Given the description of an element on the screen output the (x, y) to click on. 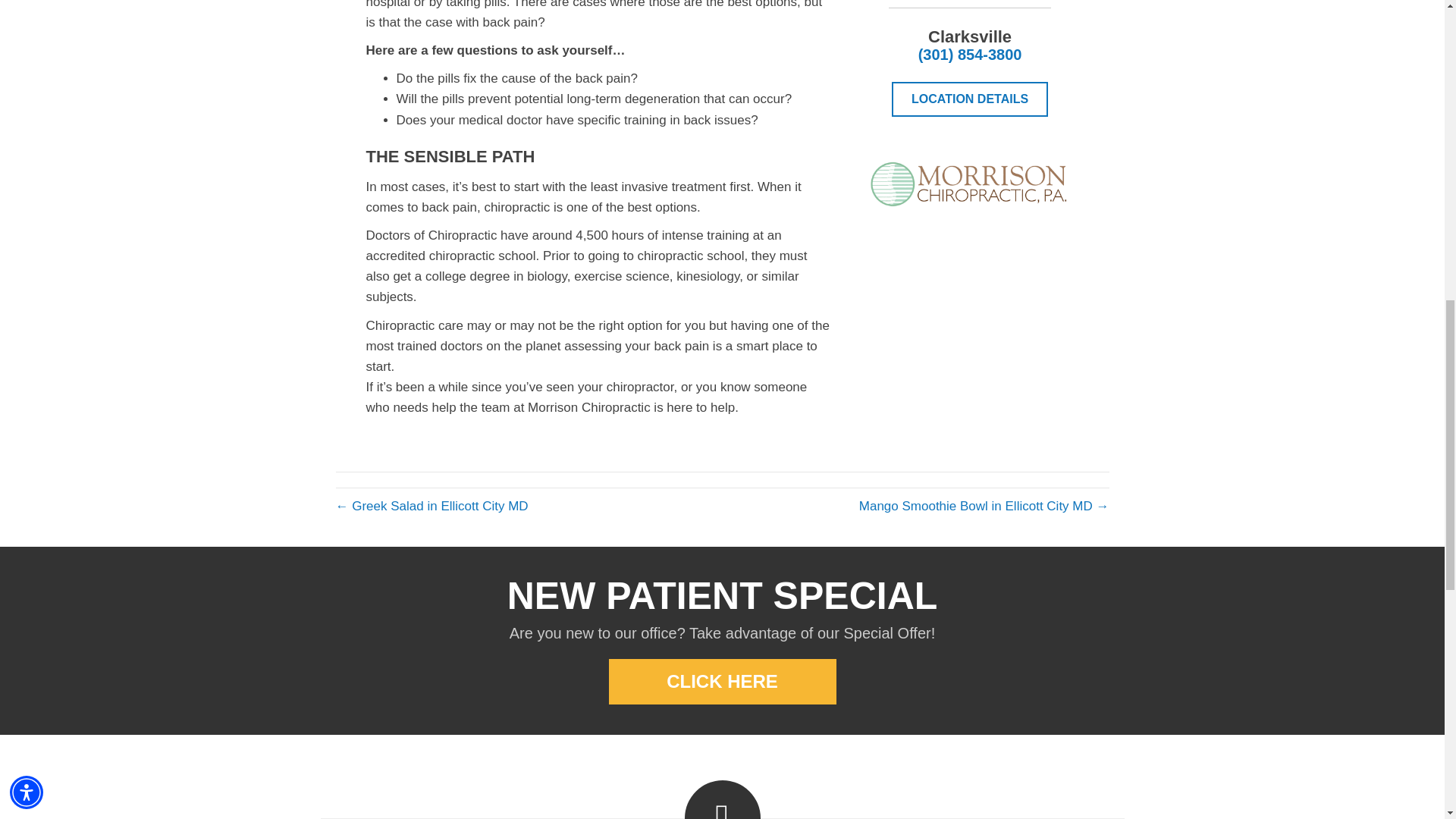
Chiropractic Morrison Chiropractic (970, 184)
